Given the description of an element on the screen output the (x, y) to click on. 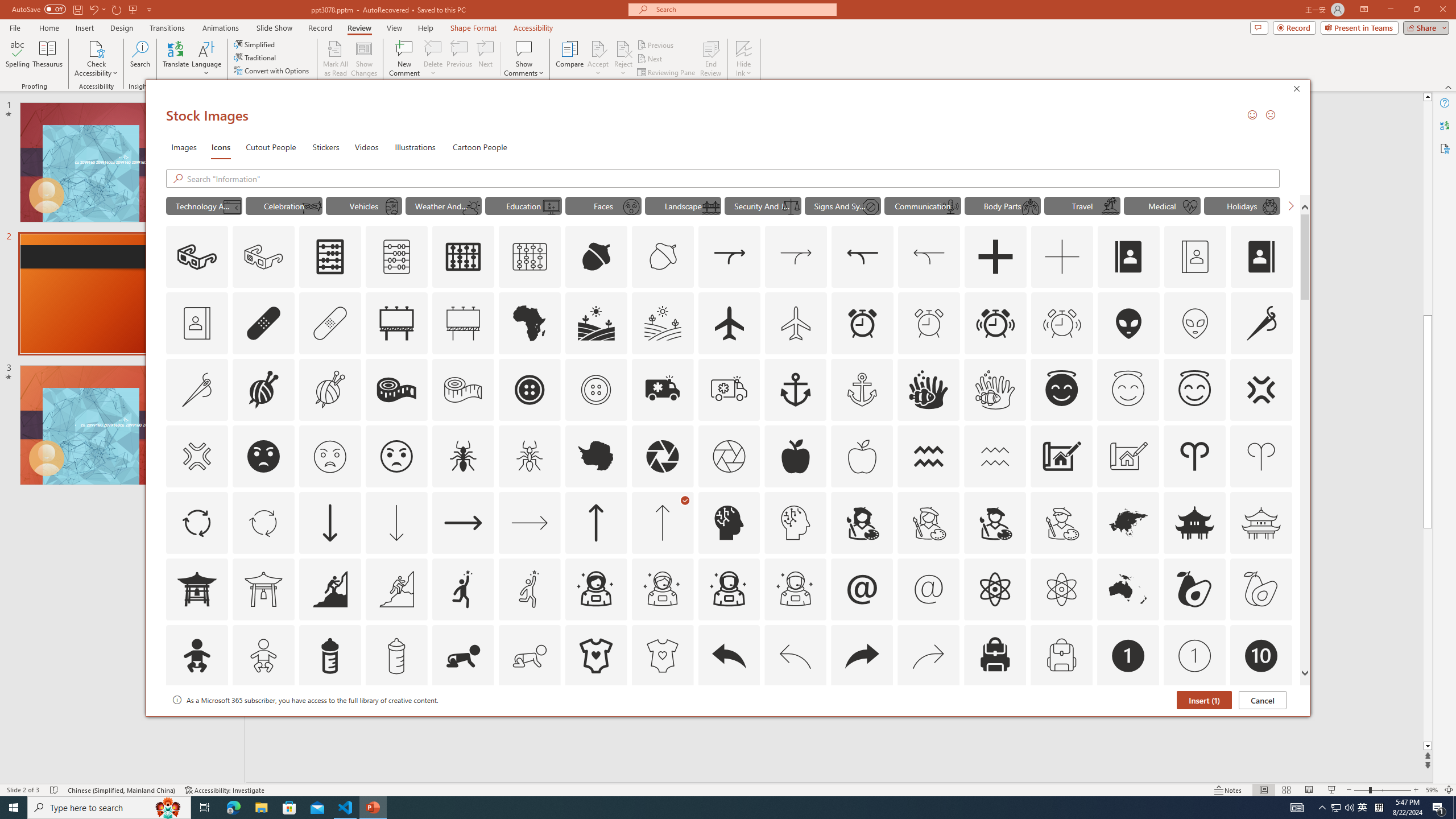
AutomationID: Icons_Anchor (795, 389)
AutomationID: Icons_Acquisition_LTR_M (796, 256)
AutomationID: Icons_AlterationsTailoring2 (395, 389)
AutomationID: Icons_Badge2 (263, 721)
"Signs And Symbols" Icons. (842, 205)
